Given the description of an element on the screen output the (x, y) to click on. 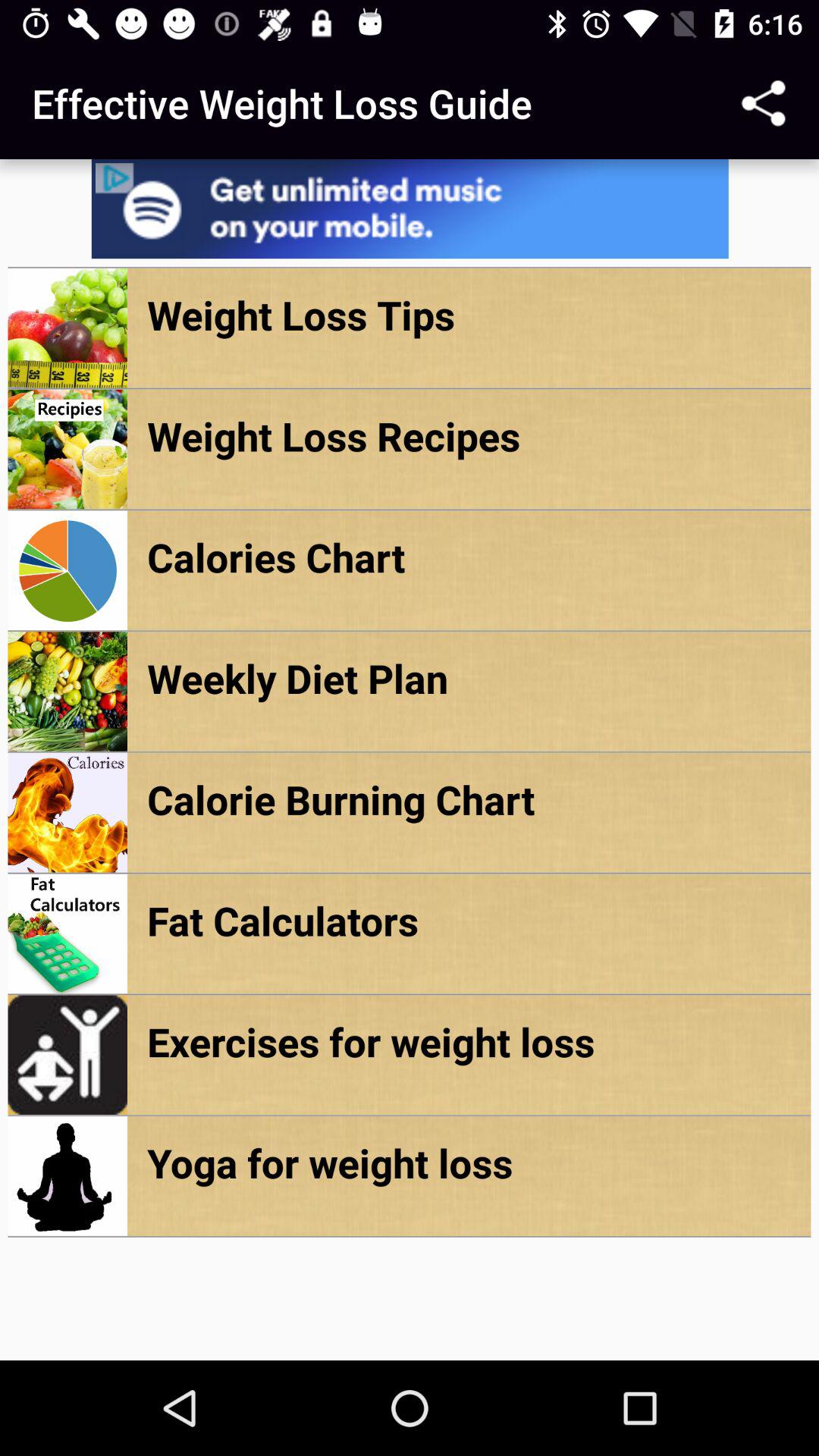
get music (409, 208)
